Given the description of an element on the screen output the (x, y) to click on. 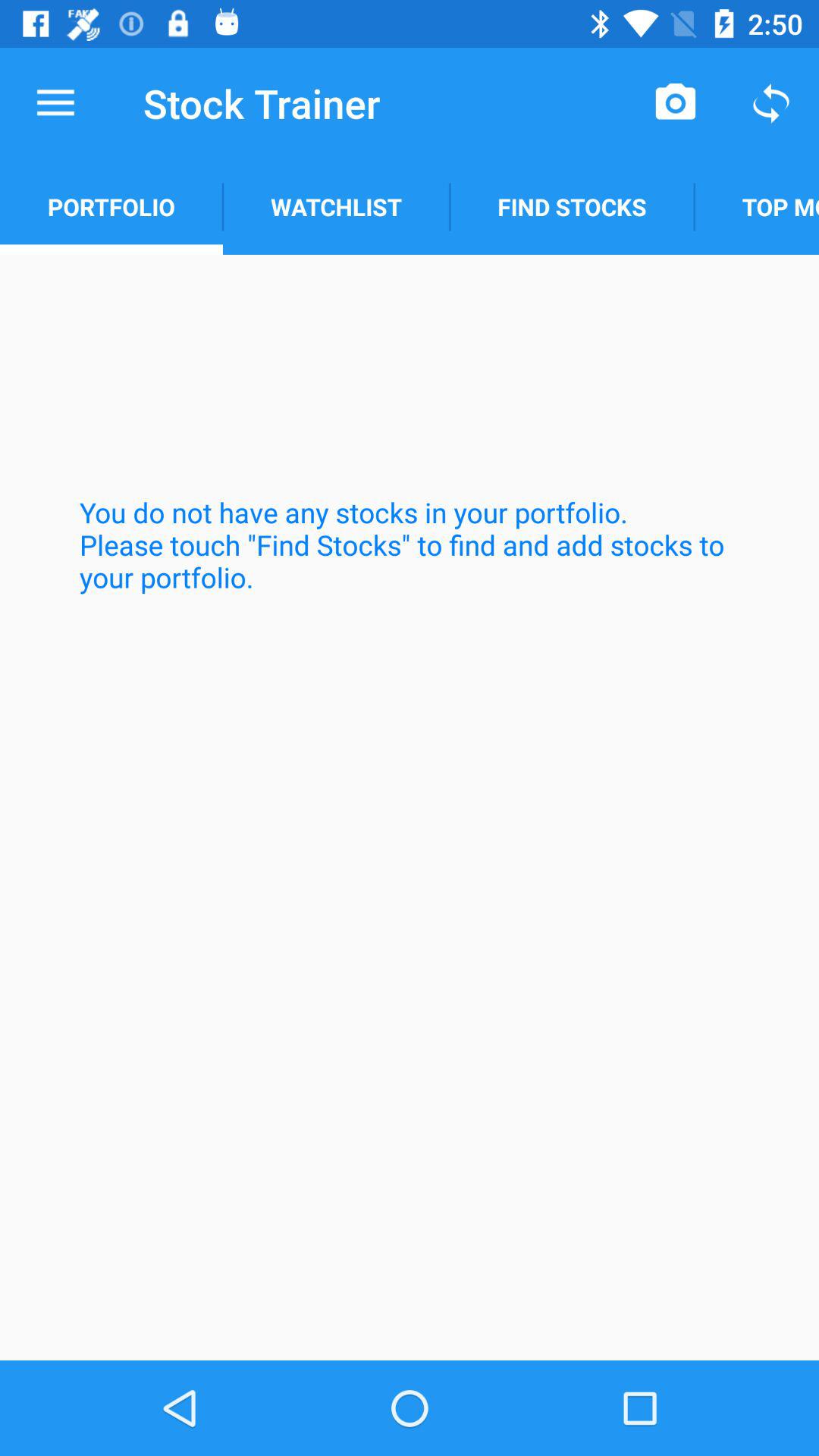
swipe to the watchlist item (335, 206)
